Given the description of an element on the screen output the (x, y) to click on. 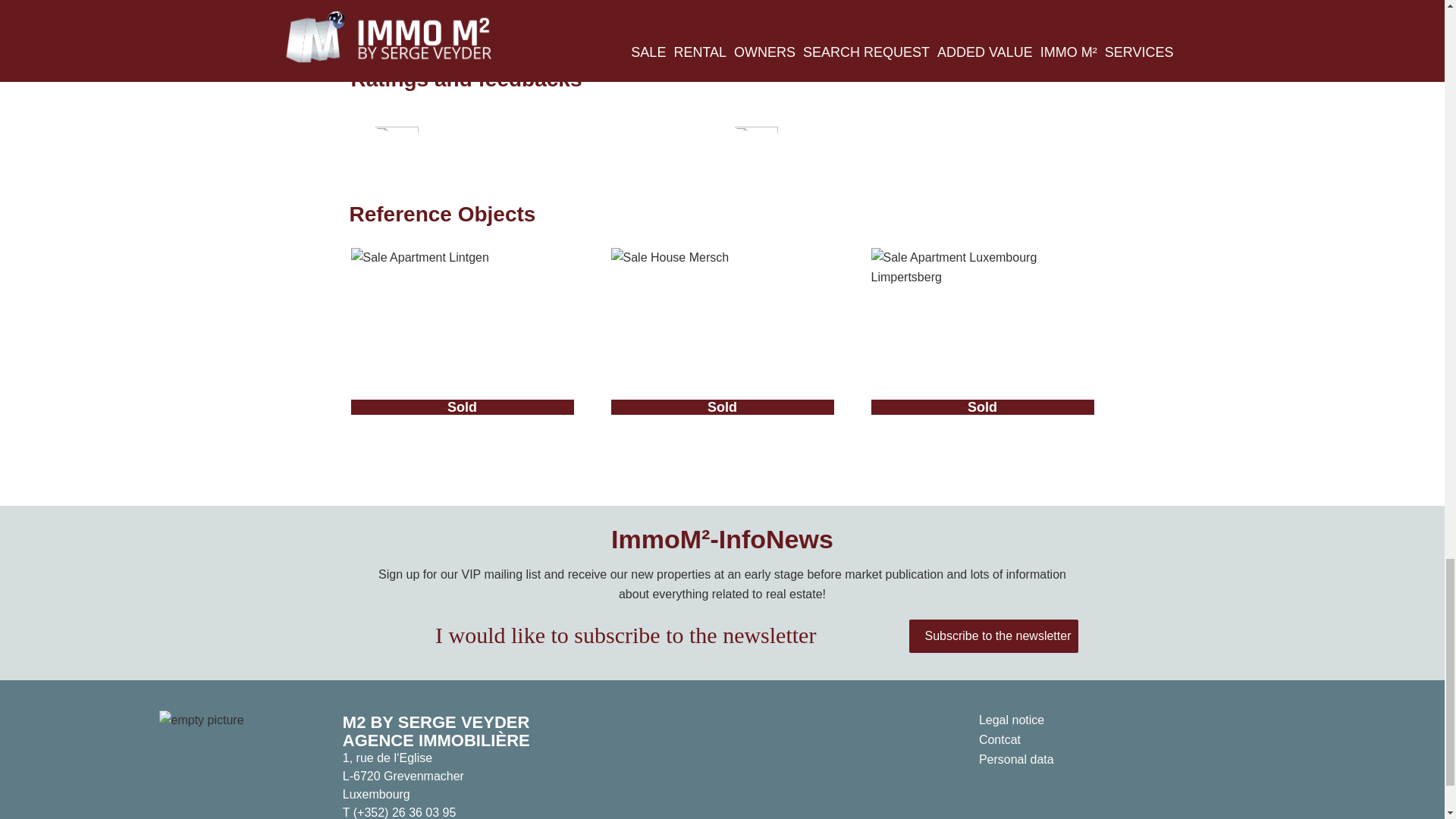
Sold (461, 338)
Legal notice (1010, 719)
Contcat (999, 739)
Sold (722, 338)
Sold (981, 338)
Personal data (1016, 758)
Subscribe to the newsletter (993, 635)
